Given the description of an element on the screen output the (x, y) to click on. 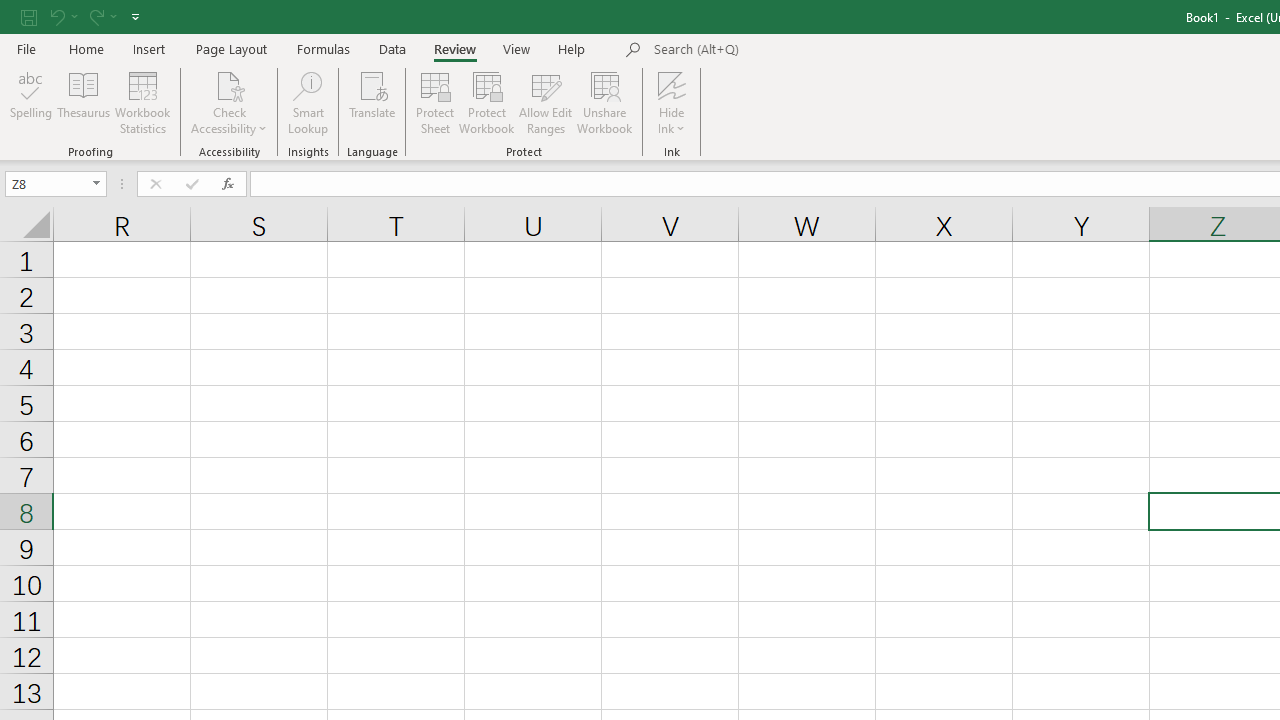
Hide Ink (671, 84)
Protect Workbook... (486, 102)
